Given the description of an element on the screen output the (x, y) to click on. 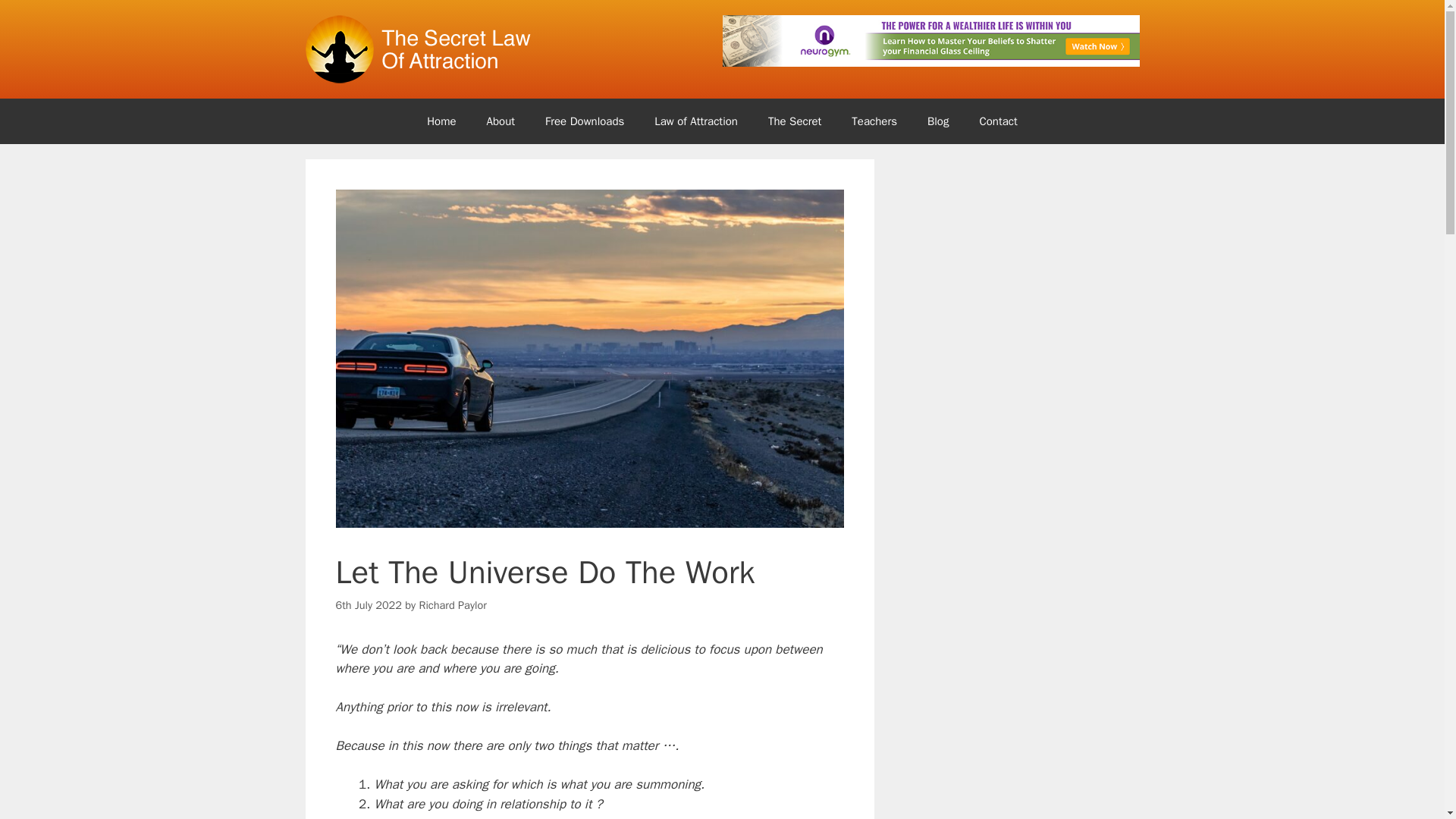
View all posts by Richard Paylor (452, 604)
The Secret (793, 121)
Blog (937, 121)
Free Downloads (584, 121)
Teachers (873, 121)
Law of Attraction (695, 121)
Richard Paylor (452, 604)
About (500, 121)
Home (441, 121)
Contact (997, 121)
